Given the description of an element on the screen output the (x, y) to click on. 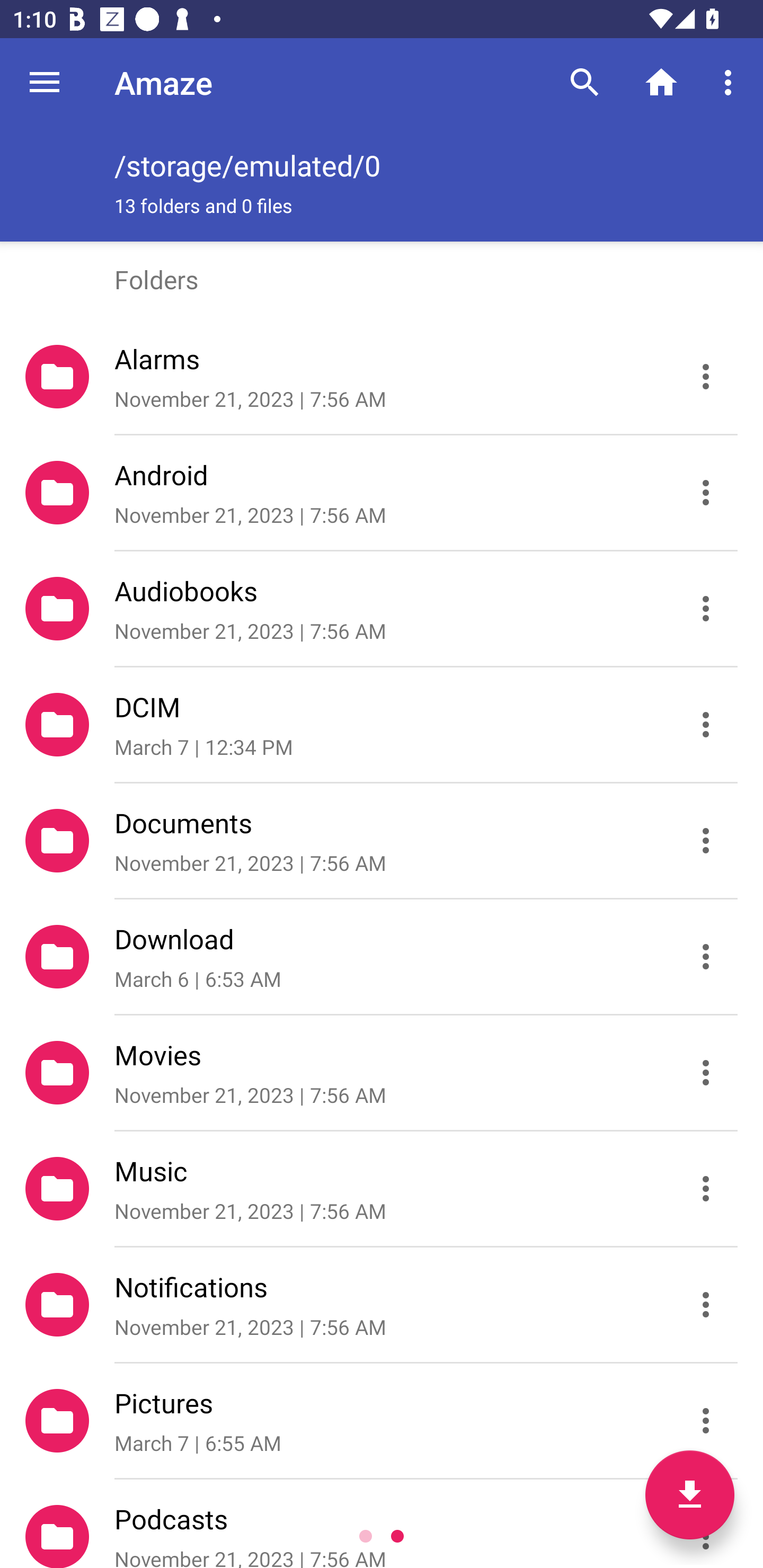
Navigate up (44, 82)
Search (585, 81)
Home (661, 81)
More options (731, 81)
Alarms November 21, 2023 | 7:56 AM (381, 376)
Android November 21, 2023 | 7:56 AM (381, 492)
Audiobooks November 21, 2023 | 7:56 AM (381, 608)
DCIM March 7 | 12:34 PM (381, 724)
Documents November 21, 2023 | 7:56 AM (381, 841)
Download March 6 | 6:53 AM (381, 957)
Movies November 21, 2023 | 7:56 AM (381, 1073)
Music November 21, 2023 | 7:56 AM (381, 1189)
Notifications November 21, 2023 | 7:56 AM (381, 1305)
Pictures March 7 | 6:55 AM (381, 1421)
Podcasts November 21, 2023 | 7:56 AM (381, 1524)
